Given the description of an element on the screen output the (x, y) to click on. 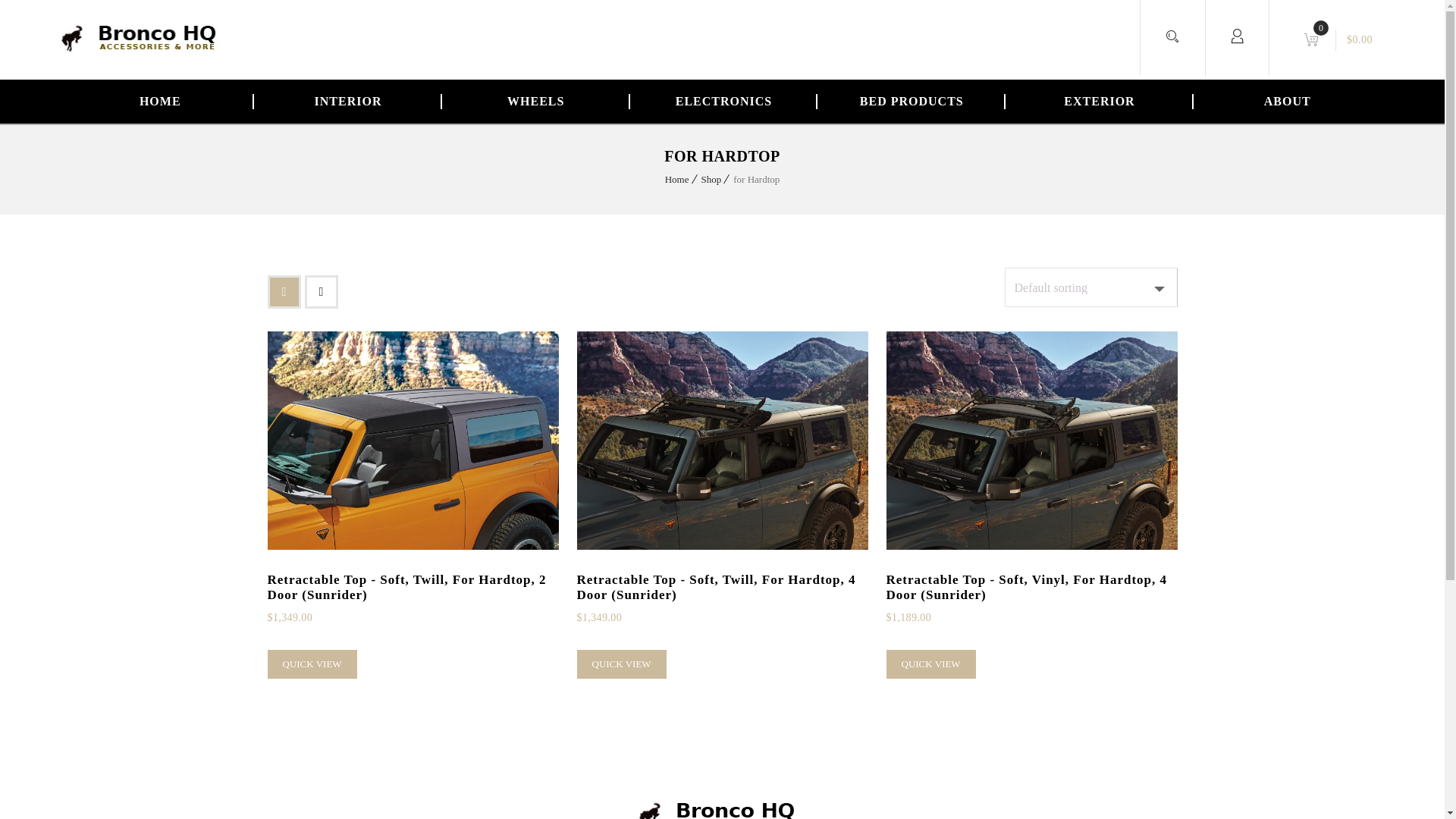
BED PRODUCTS (911, 101)
ELECTRONICS (723, 101)
Grid view (282, 291)
HOME (158, 101)
ABOUT (1287, 101)
List view (320, 291)
INTERIOR (348, 101)
View Shopping Cart (1339, 39)
EXTERIOR (1099, 101)
WHEELS (536, 101)
